Given the description of an element on the screen output the (x, y) to click on. 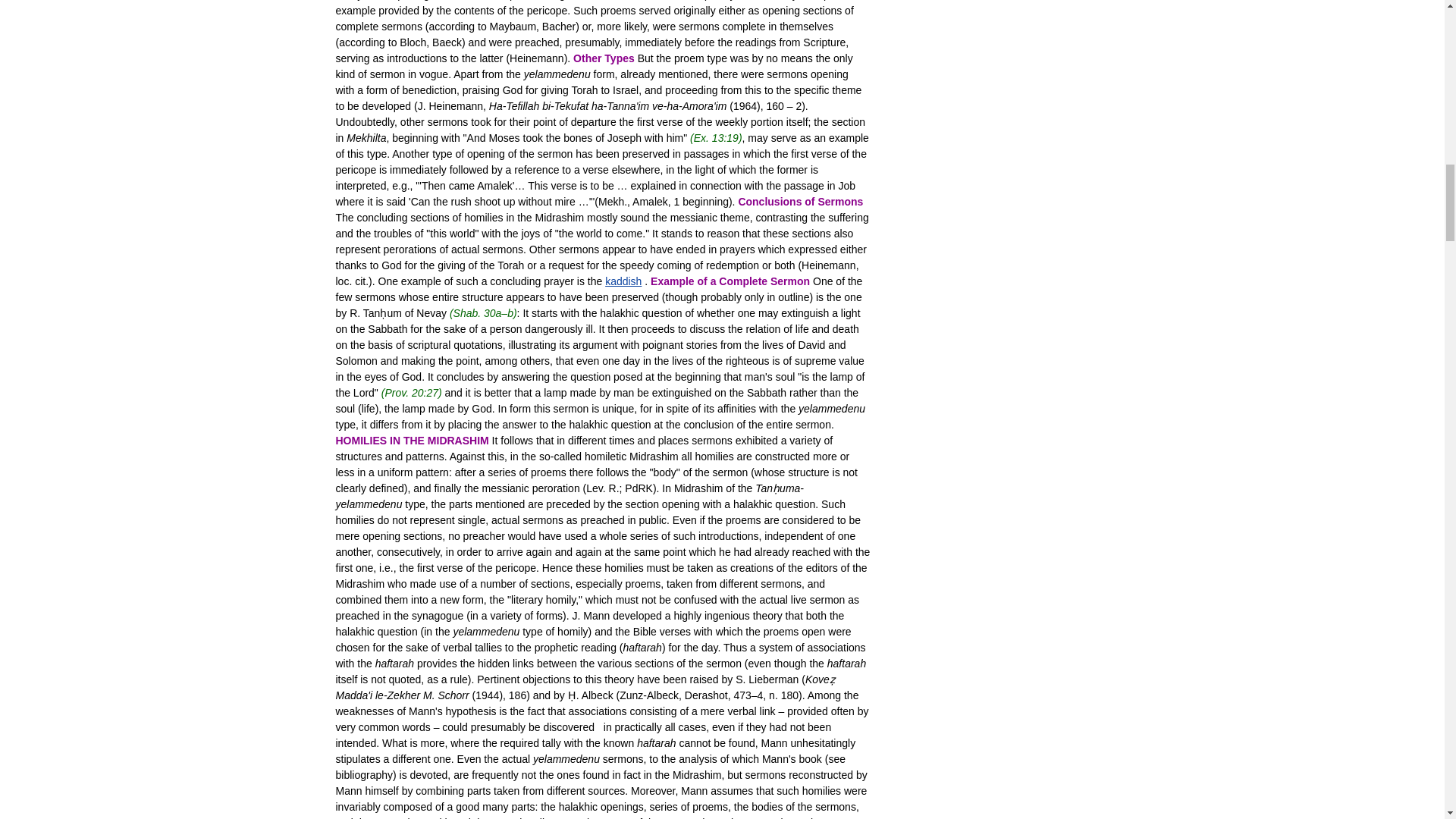
kaddish (623, 281)
